Given the description of an element on the screen output the (x, y) to click on. 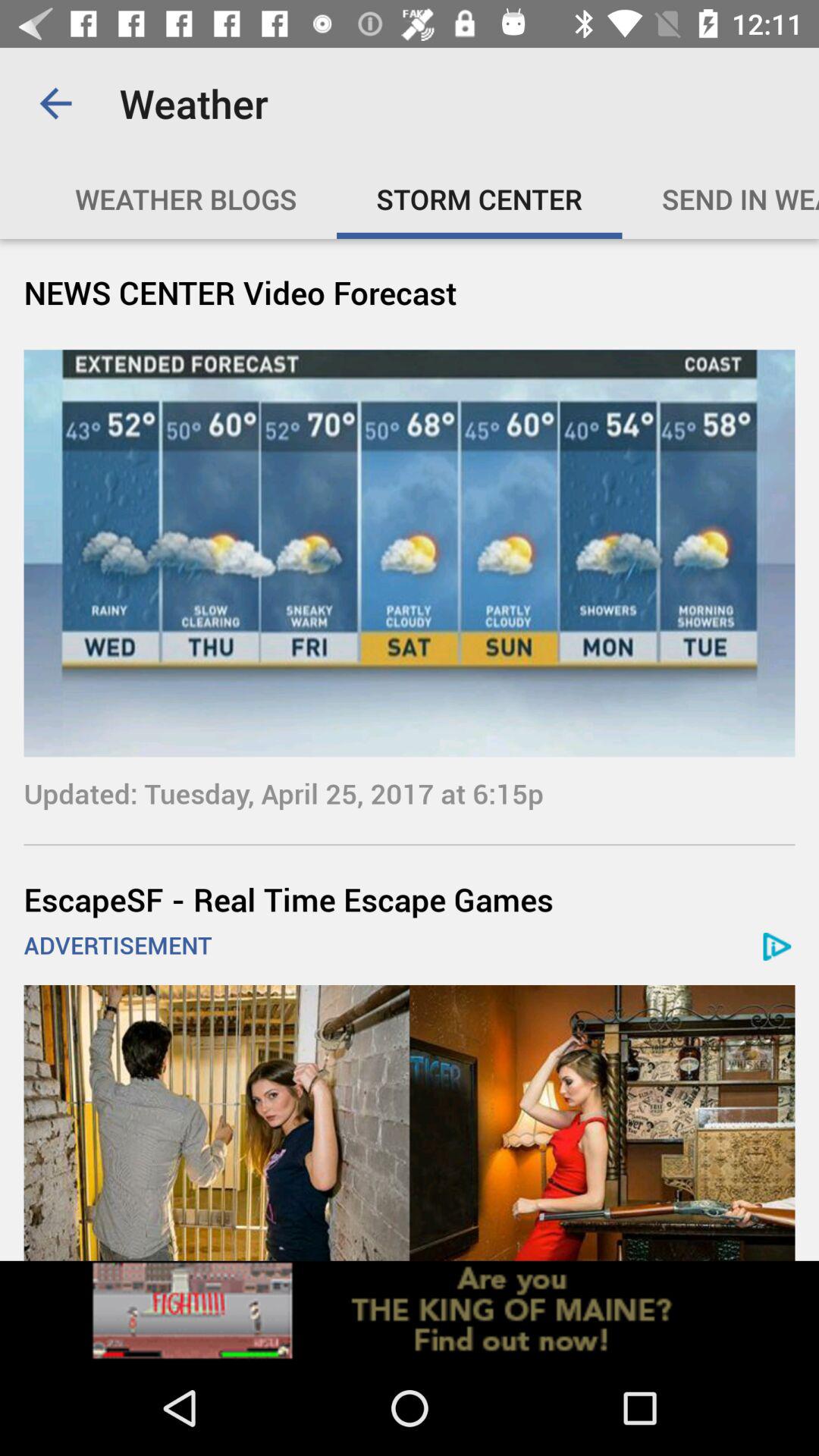
advertisement (409, 1122)
